Given the description of an element on the screen output the (x, y) to click on. 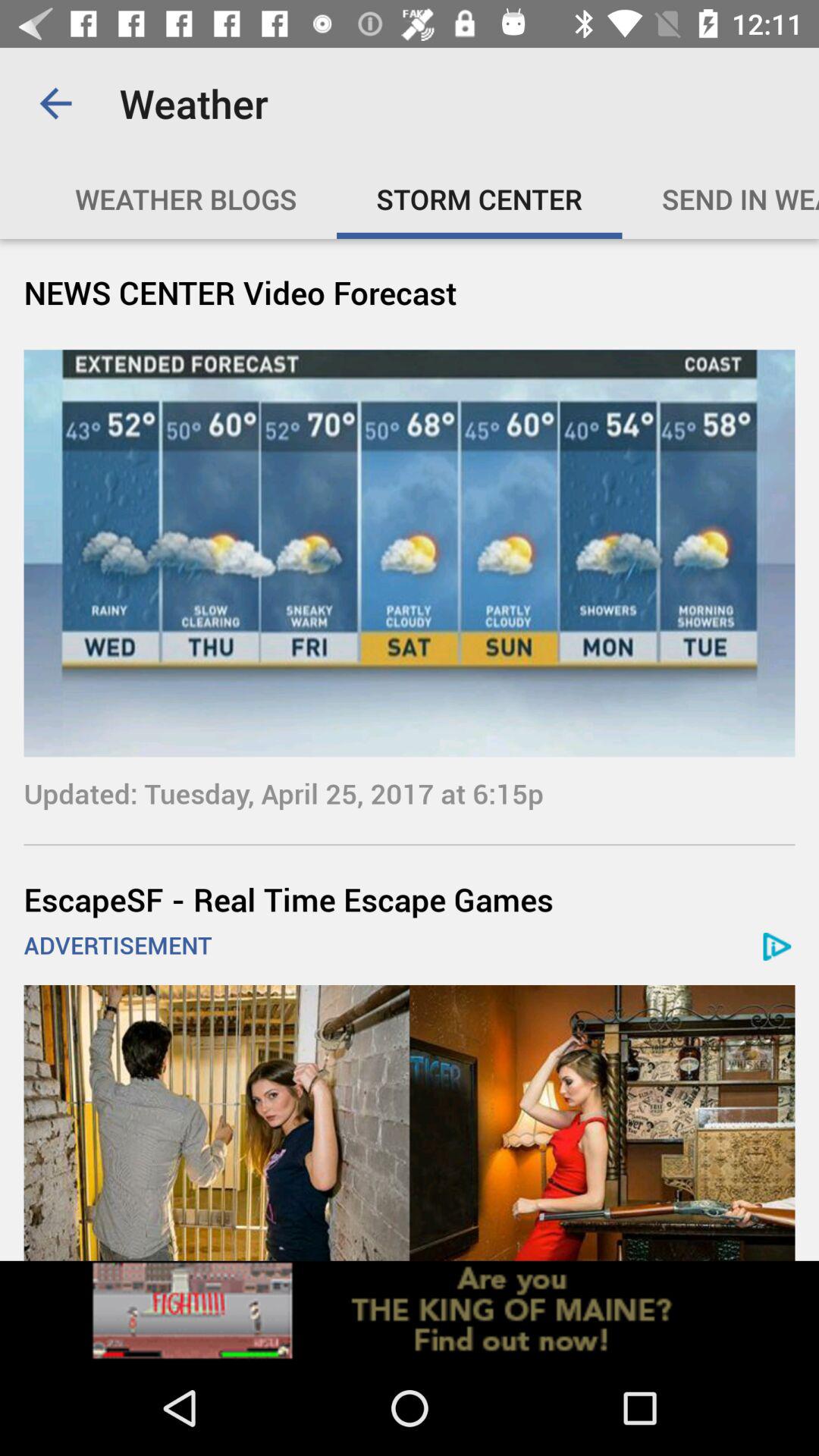
advertisement (409, 1122)
